Given the description of an element on the screen output the (x, y) to click on. 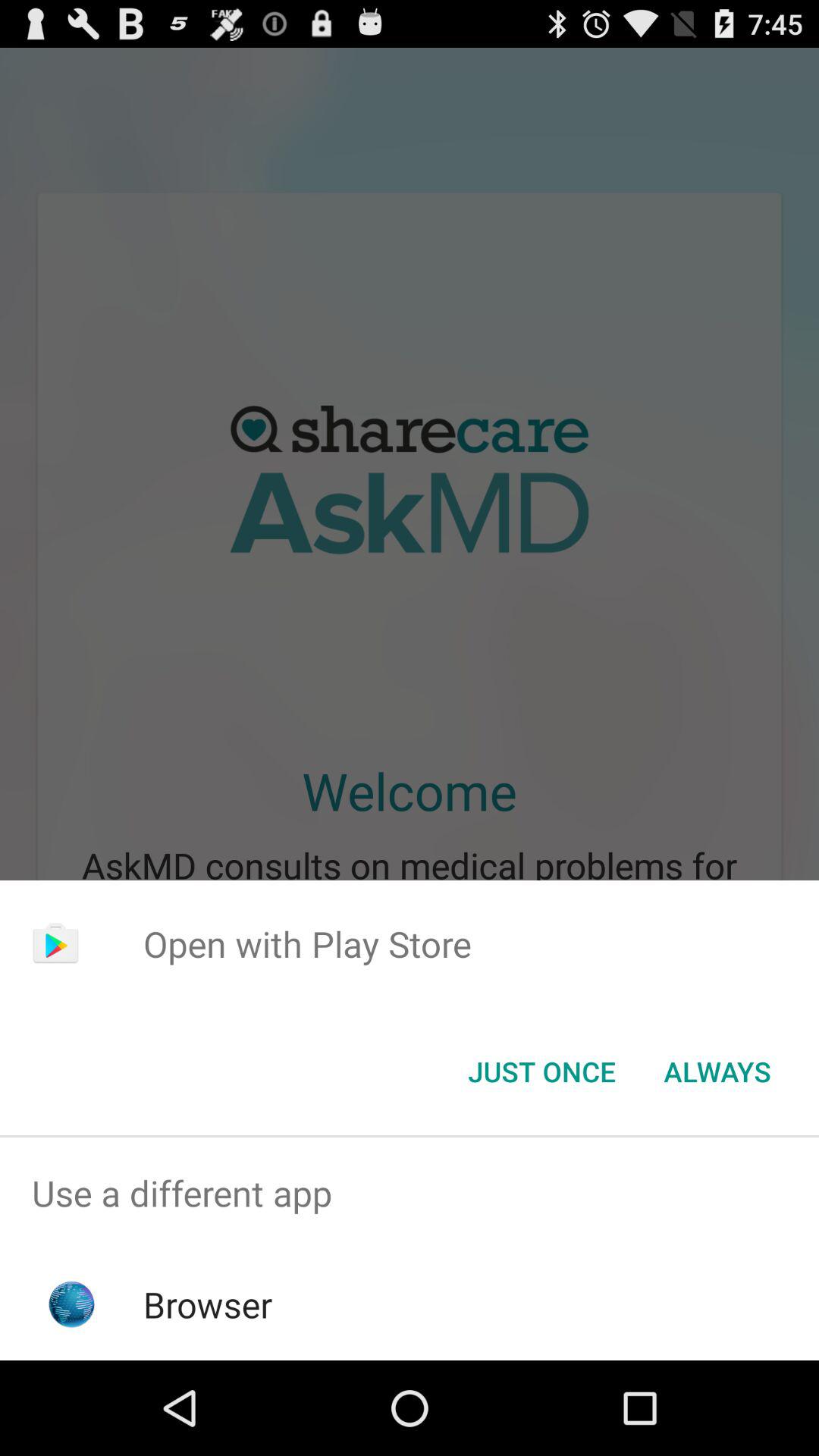
select always (717, 1071)
